Given the description of an element on the screen output the (x, y) to click on. 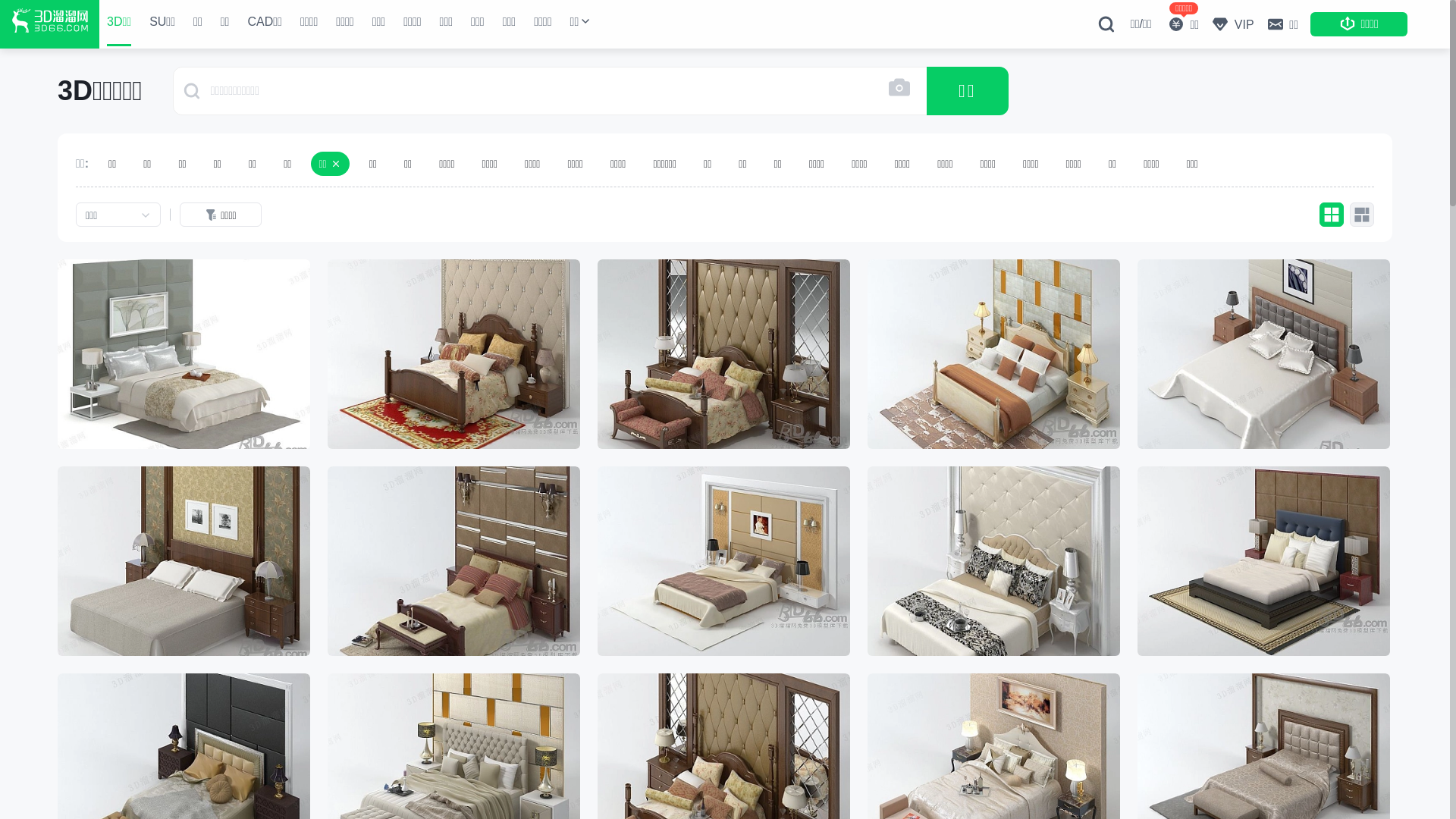
VIP Element type: text (1232, 23)
